Given the description of an element on the screen output the (x, y) to click on. 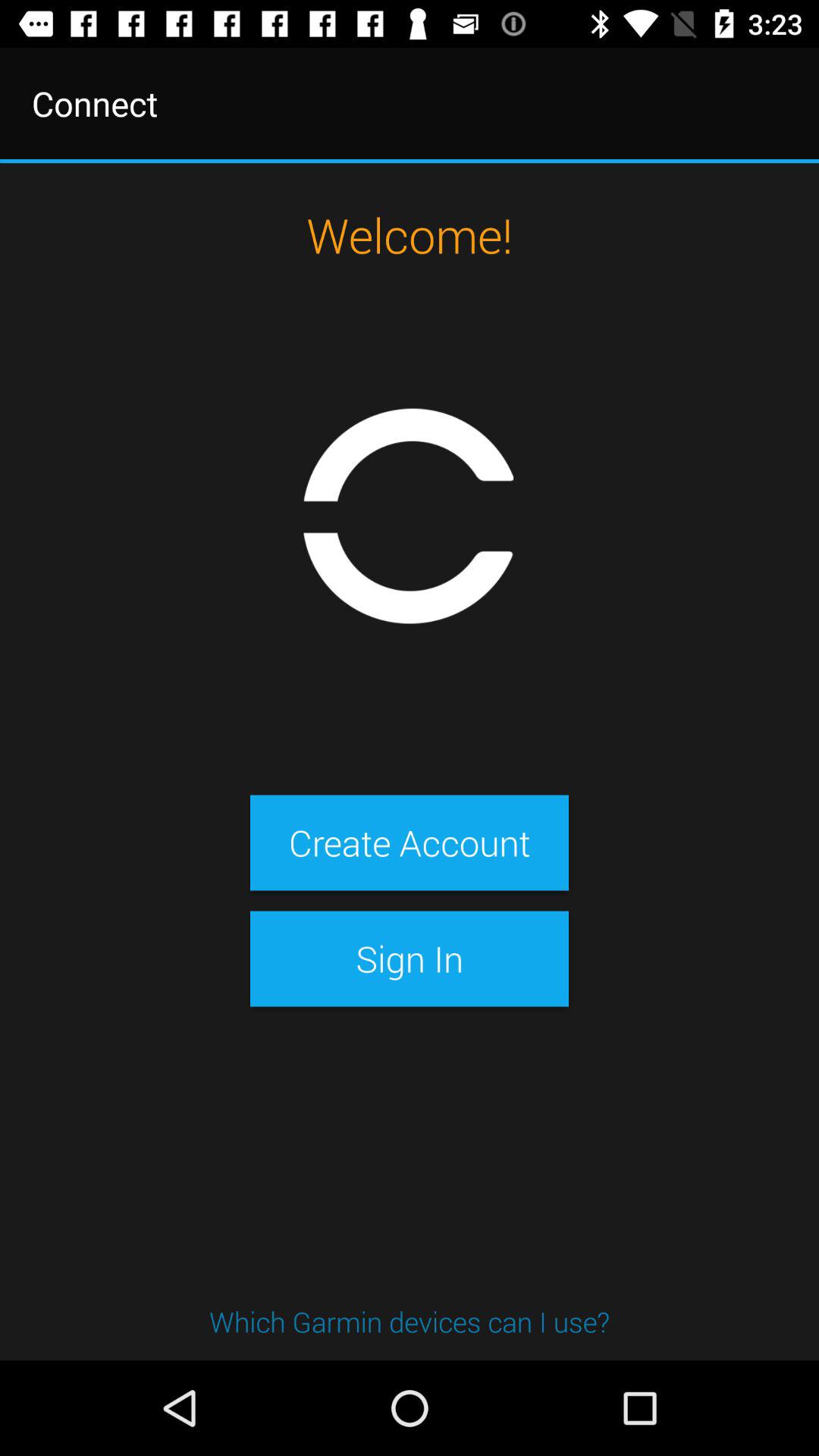
scroll until create account item (409, 842)
